Given the description of an element on the screen output the (x, y) to click on. 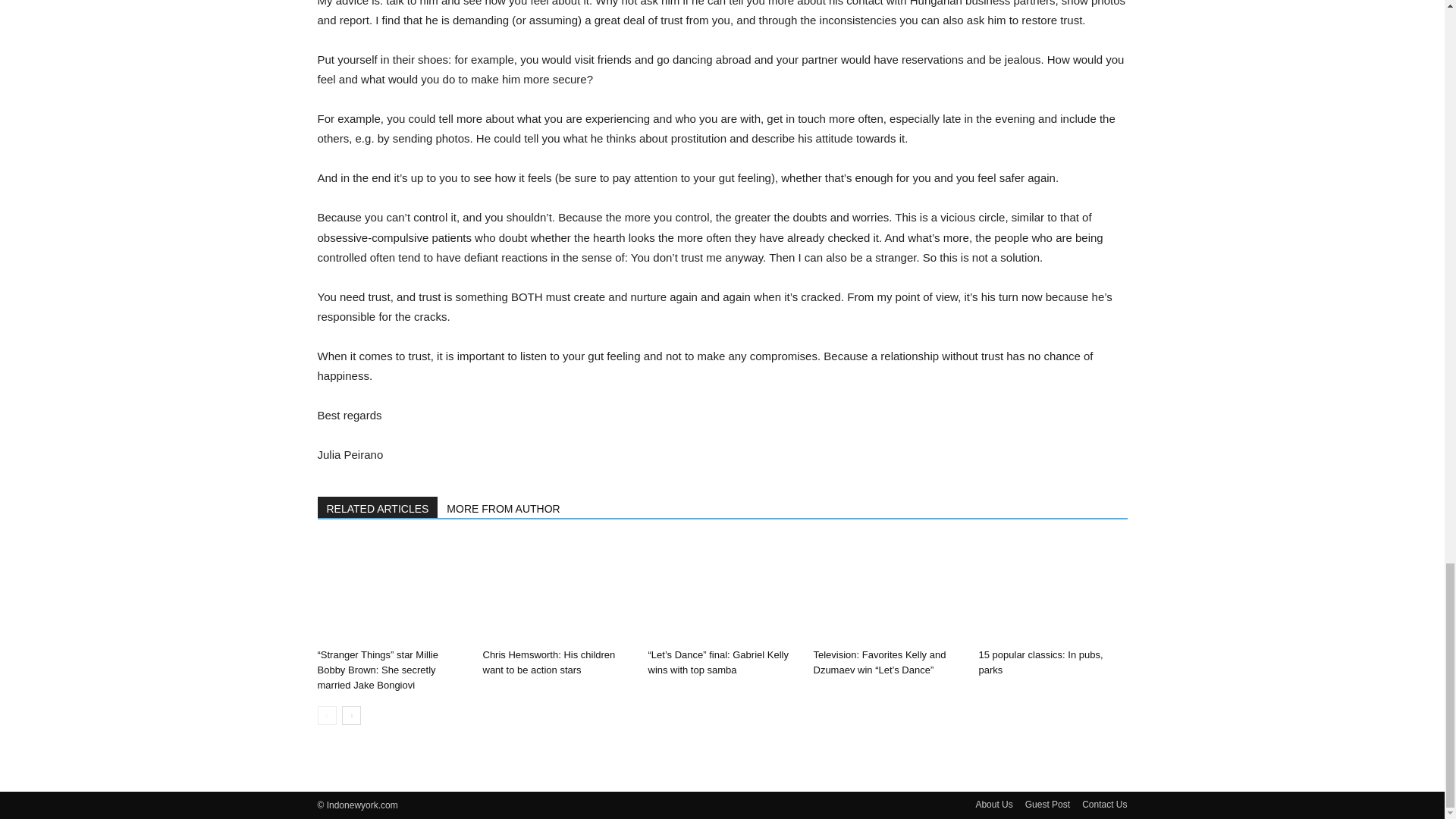
Chris Hemsworth: His children want to be action stars (555, 590)
Chris Hemsworth: His children want to be action stars (547, 662)
15 popular classics: In pubs, parks (1040, 662)
15 popular classics: In pubs, parks (1052, 590)
MORE FROM AUTHOR (503, 506)
Chris Hemsworth: His children want to be action stars (547, 662)
RELATED ARTICLES (377, 506)
